Given the description of an element on the screen output the (x, y) to click on. 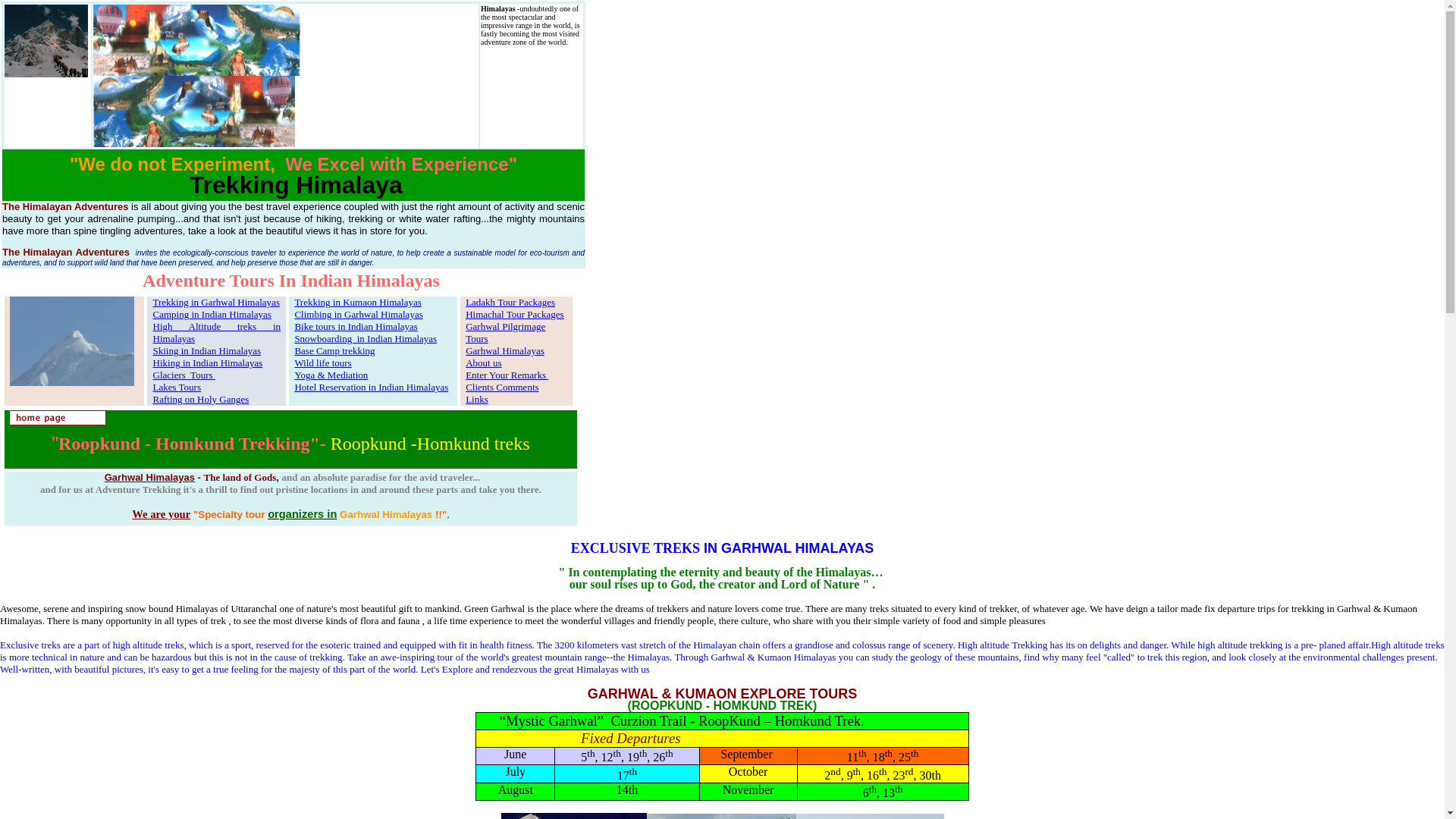
Climbing in Garhwal Himalayas (358, 314)
Snowboarding  in Indian Himalayas (365, 337)
Trekking in Garhwal Himalayas (215, 301)
Links (476, 398)
Hotel Reservation in Indian Himalayas (371, 387)
Glaciers  Tours  (183, 374)
Lakes Tours (176, 387)
High Altitude treks in Himalayas (216, 332)
Bike tours in Indian Himalayas (355, 326)
